Given the description of an element on the screen output the (x, y) to click on. 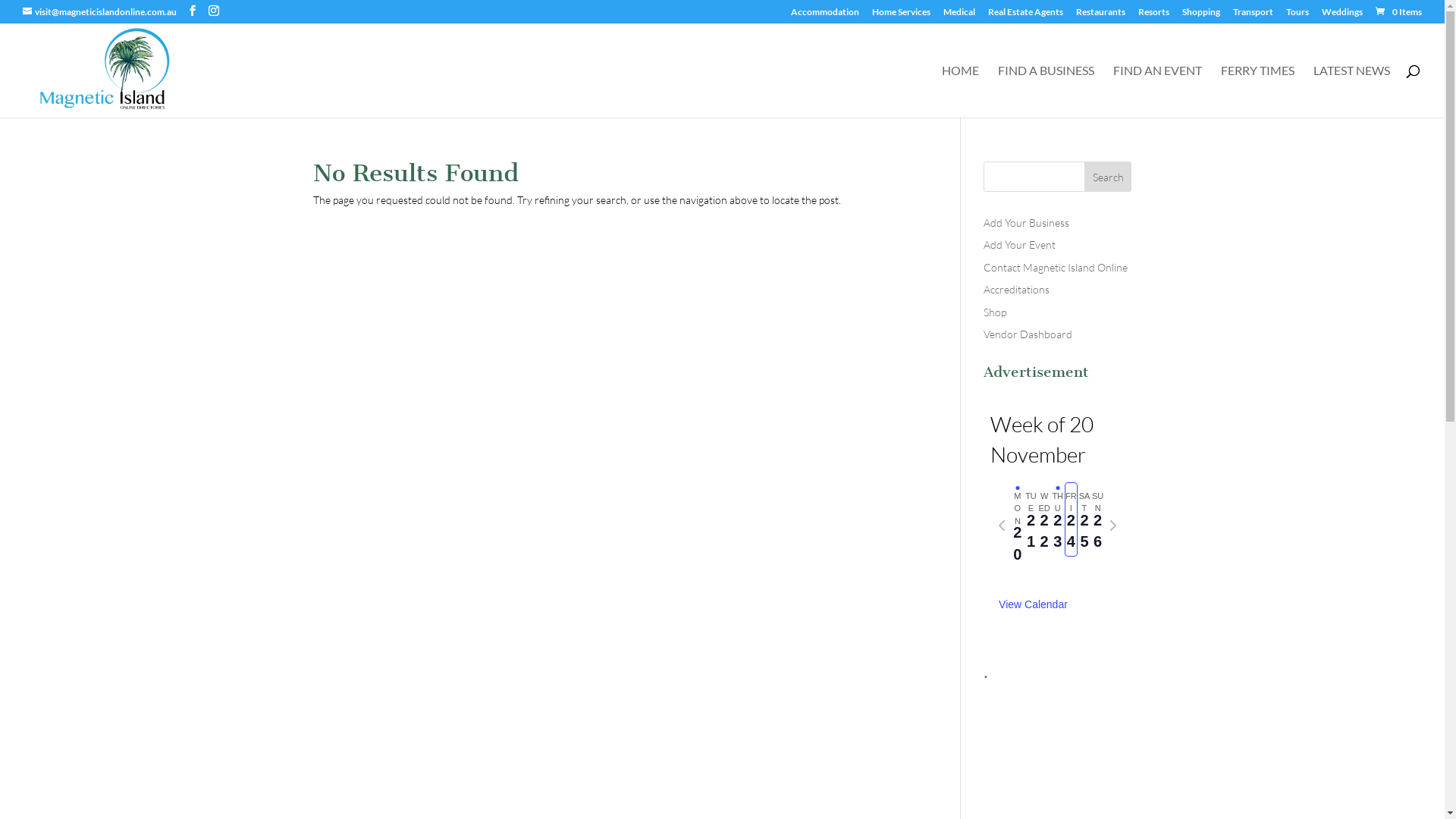
SAT
25 Element type: text (1084, 519)
Real Estate Agents Element type: text (1025, 15)
Add Your Business Element type: text (1026, 222)
Has events Element type: hover (1057, 487)
HOME Element type: text (960, 91)
LATEST NEWS Element type: text (1351, 91)
Shopping Element type: text (1201, 15)
FERRY TIMES Element type: text (1257, 91)
visit@magneticislandonline.com.au Element type: text (99, 11)
Tours Element type: text (1297, 15)
Transport Element type: text (1253, 15)
0 Items Element type: text (1397, 11)
View Calendar Element type: text (1032, 604)
TUE
21 Element type: text (1031, 519)
Has events Element type: hover (1017, 487)
Medical Element type: text (959, 15)
FIND AN EVENT Element type: text (1157, 91)
WED
22 Element type: text (1044, 519)
Search Element type: text (1108, 176)
SUN
26 Element type: text (1097, 519)
Accreditations Element type: text (1016, 288)
Accommodation Element type: text (824, 15)
FIND A BUSINESS Element type: text (1045, 91)
Previous week Element type: text (1001, 525)
THU
23 Element type: text (1057, 519)
Home Services Element type: text (901, 15)
FRI
24 Element type: text (1071, 519)
Restaurants Element type: text (1100, 15)
Contact Magnetic Island Online Element type: text (1055, 266)
Vendor Dashboard Element type: text (1027, 333)
Next week Element type: text (1113, 525)
Shop Element type: text (994, 311)
Resorts Element type: text (1153, 15)
MON
20 Element type: text (1017, 525)
Add Your Event Element type: text (1019, 244)
Weddings Element type: text (1341, 15)
